Given the description of an element on the screen output the (x, y) to click on. 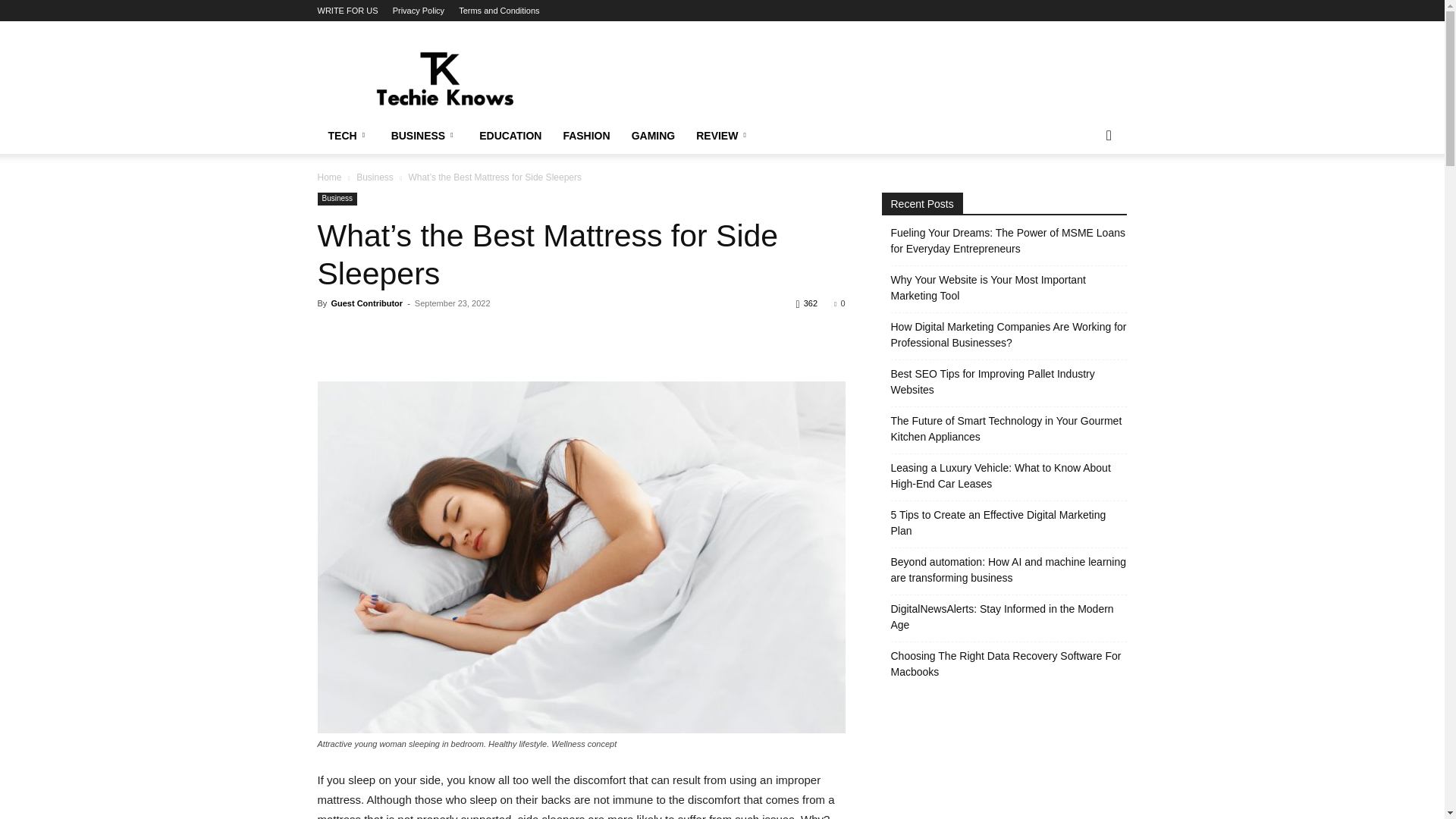
Terms and Conditions (498, 10)
GAMING (653, 135)
Privacy Policy (418, 10)
View all posts in Business (374, 176)
FASHION (585, 135)
TECH (348, 135)
WRITE FOR US (347, 10)
BUSINESS (424, 135)
Home (328, 176)
